Given the description of an element on the screen output the (x, y) to click on. 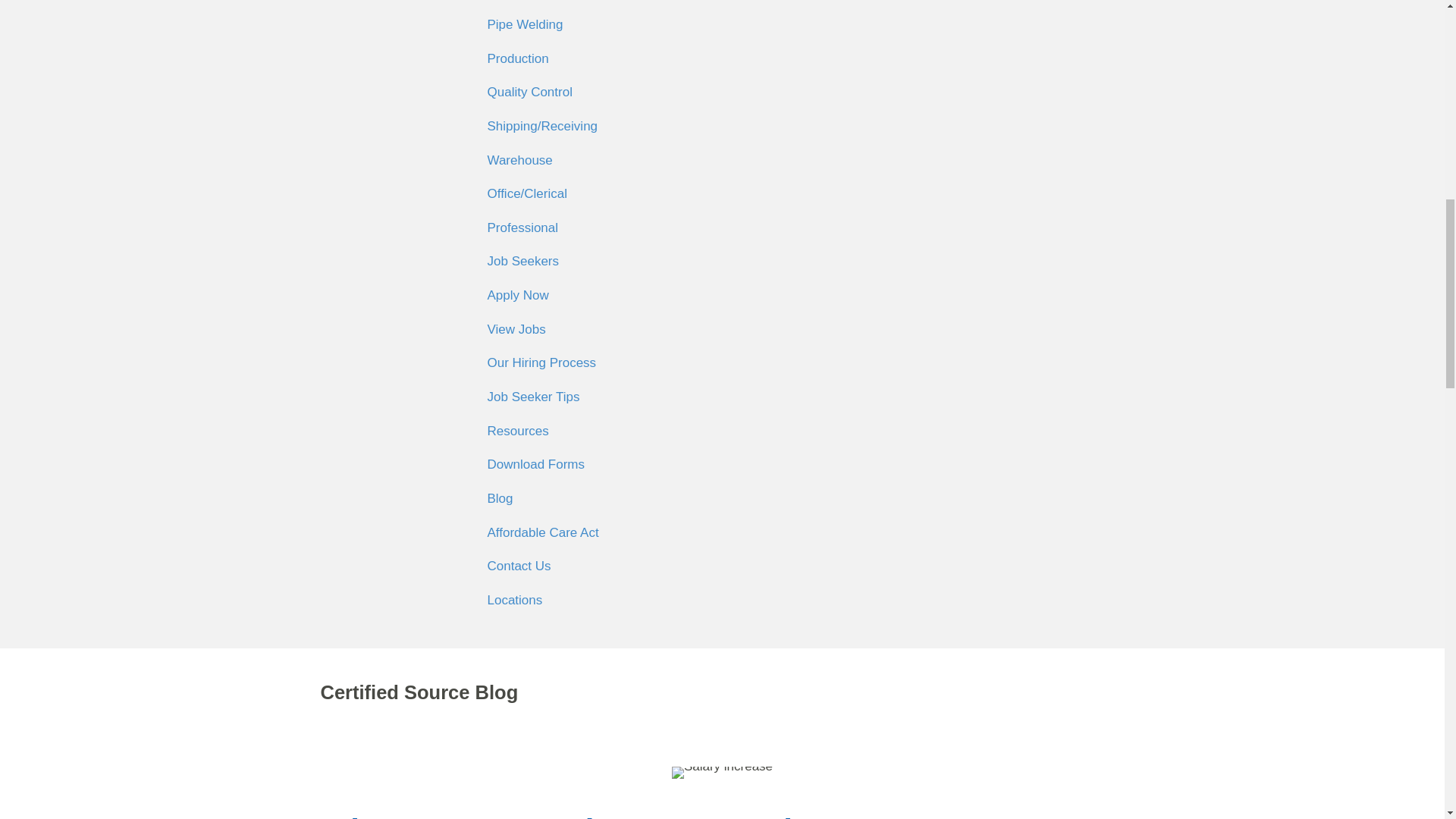
Our Hiring Process (725, 363)
Job Seekers (725, 261)
Production (725, 59)
Job Seeker Tips (725, 397)
Pipe Welding (725, 25)
Resources (725, 431)
Quality Control (725, 92)
Warehouse (725, 161)
View Jobs (725, 329)
Apply Now (725, 295)
Professional (725, 228)
